Given the description of an element on the screen output the (x, y) to click on. 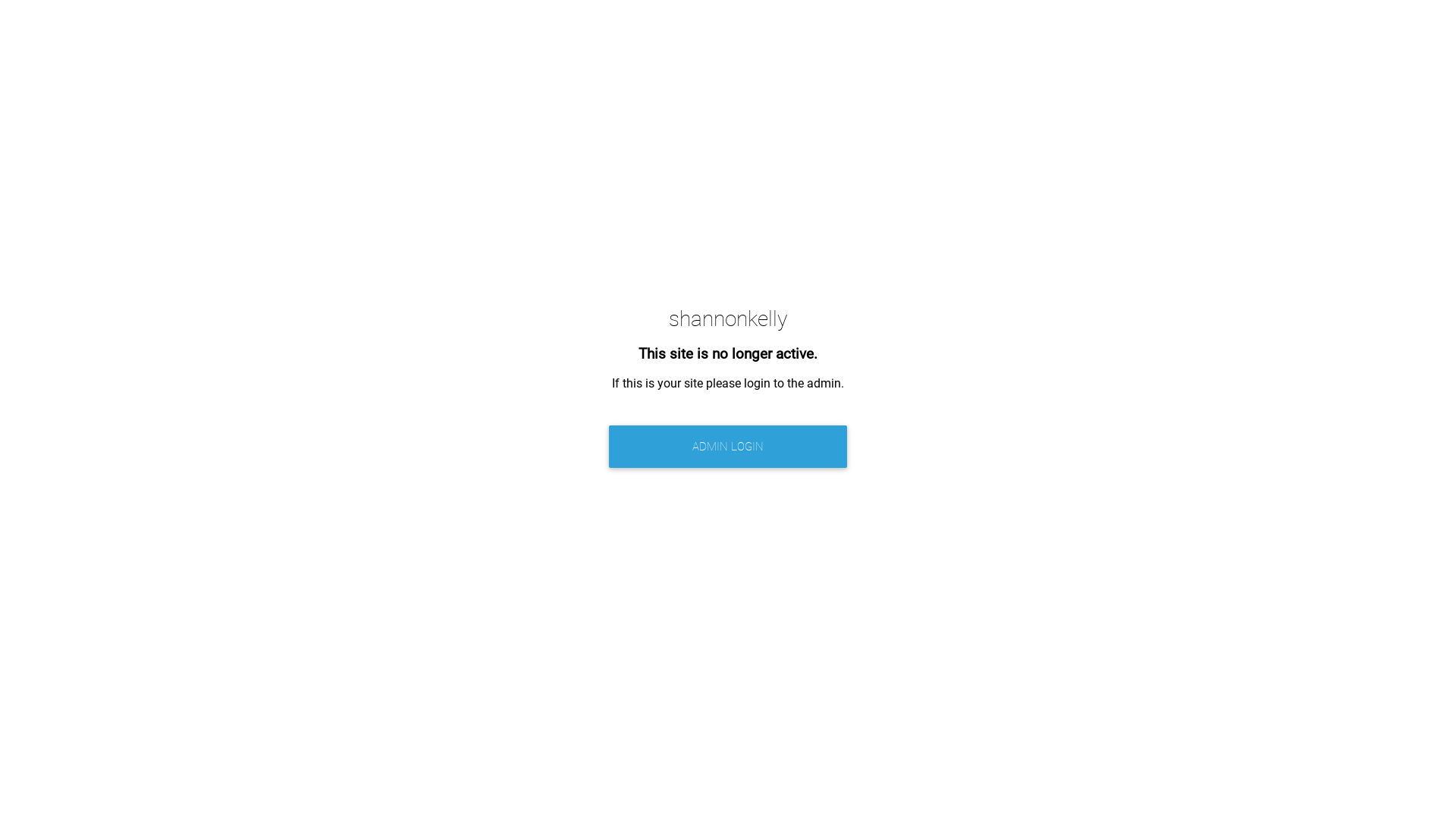
ADMIN LOGIN Element type: text (727, 446)
